Given the description of an element on the screen output the (x, y) to click on. 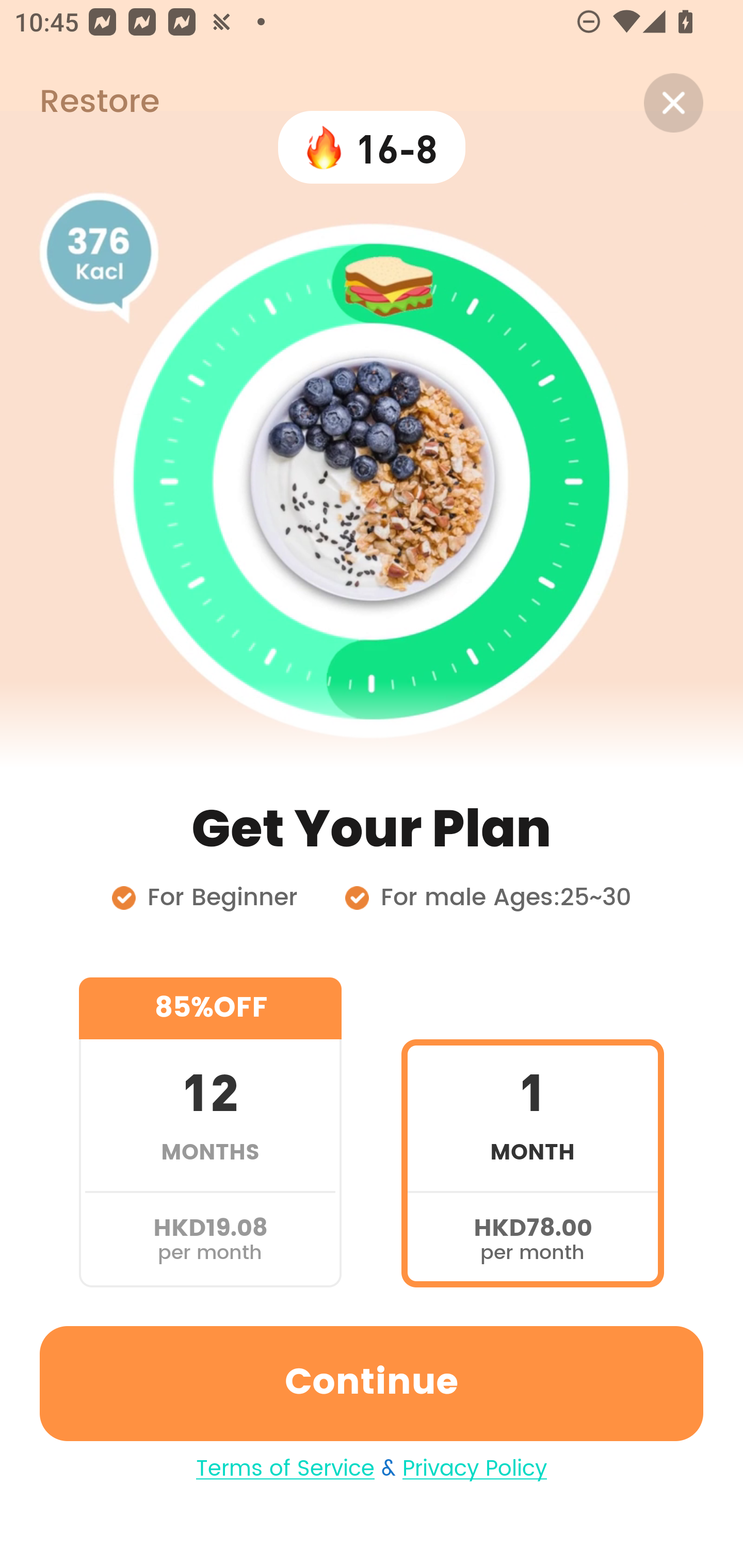
Restore (79, 102)
85%OFF 12 MONTHS per month HKD19.08 (209, 1131)
1 MONTH per month HKD78.00 (532, 1131)
Continue (371, 1383)
